Given the description of an element on the screen output the (x, y) to click on. 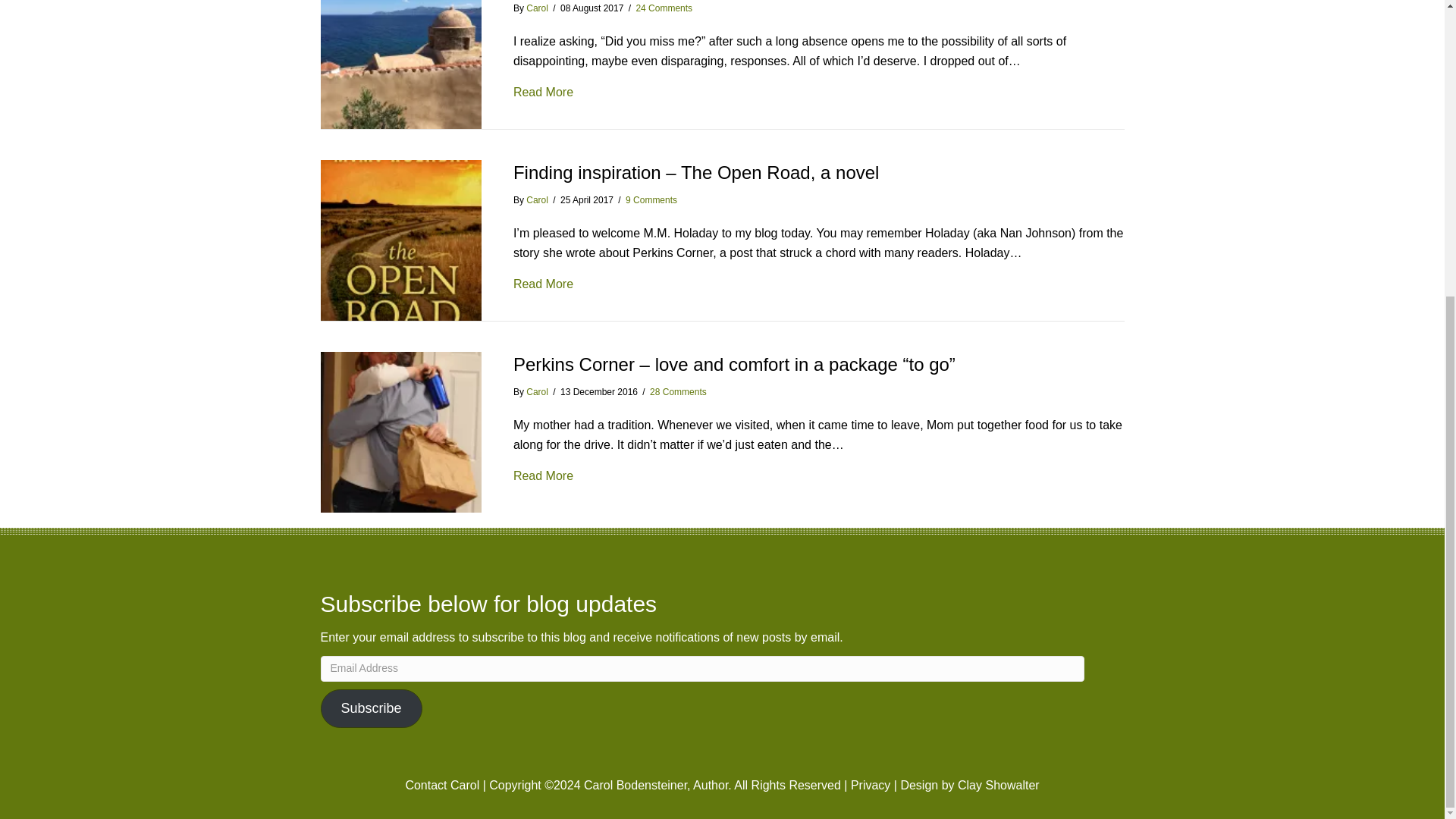
Carol (536, 199)
Read More (543, 284)
Clay Showalter (998, 784)
Carol (536, 8)
Read More (543, 476)
Carol (536, 391)
24 Comments (663, 8)
Contact Carol (441, 784)
Subscribe (371, 708)
Read More (543, 92)
9 Comments (651, 199)
Privacy (869, 784)
28 Comments (677, 391)
